Given the description of an element on the screen output the (x, y) to click on. 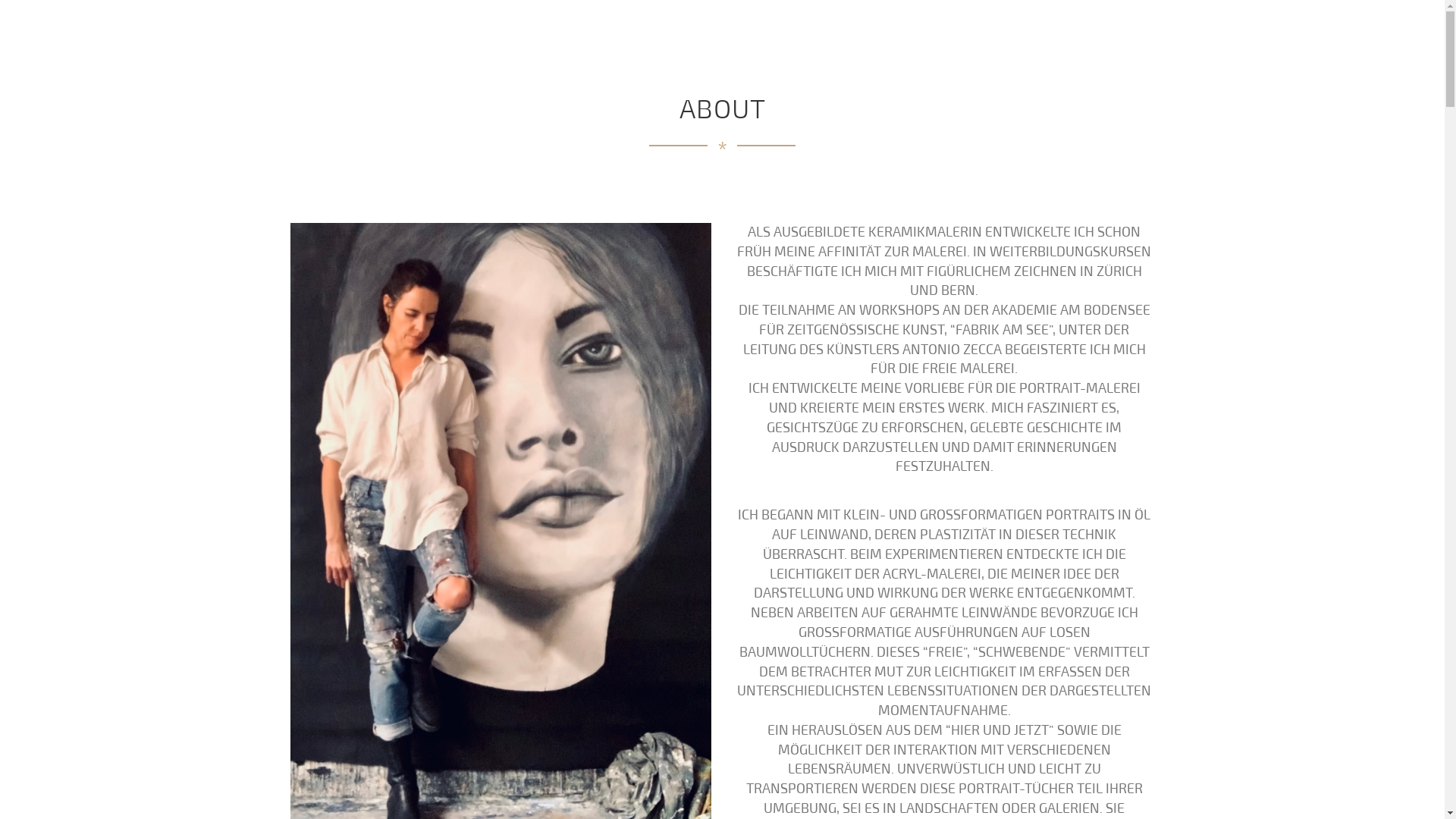
ATELIER Element type: text (1055, 37)
HIGHLANDER Element type: text (975, 37)
CLAUDIA BOSS Element type: text (385, 41)
KONTAKT Element type: text (1127, 37)
ZEICHNUNGEN Element type: text (806, 37)
MALEREI Element type: text (892, 37)
